Given the description of an element on the screen output the (x, y) to click on. 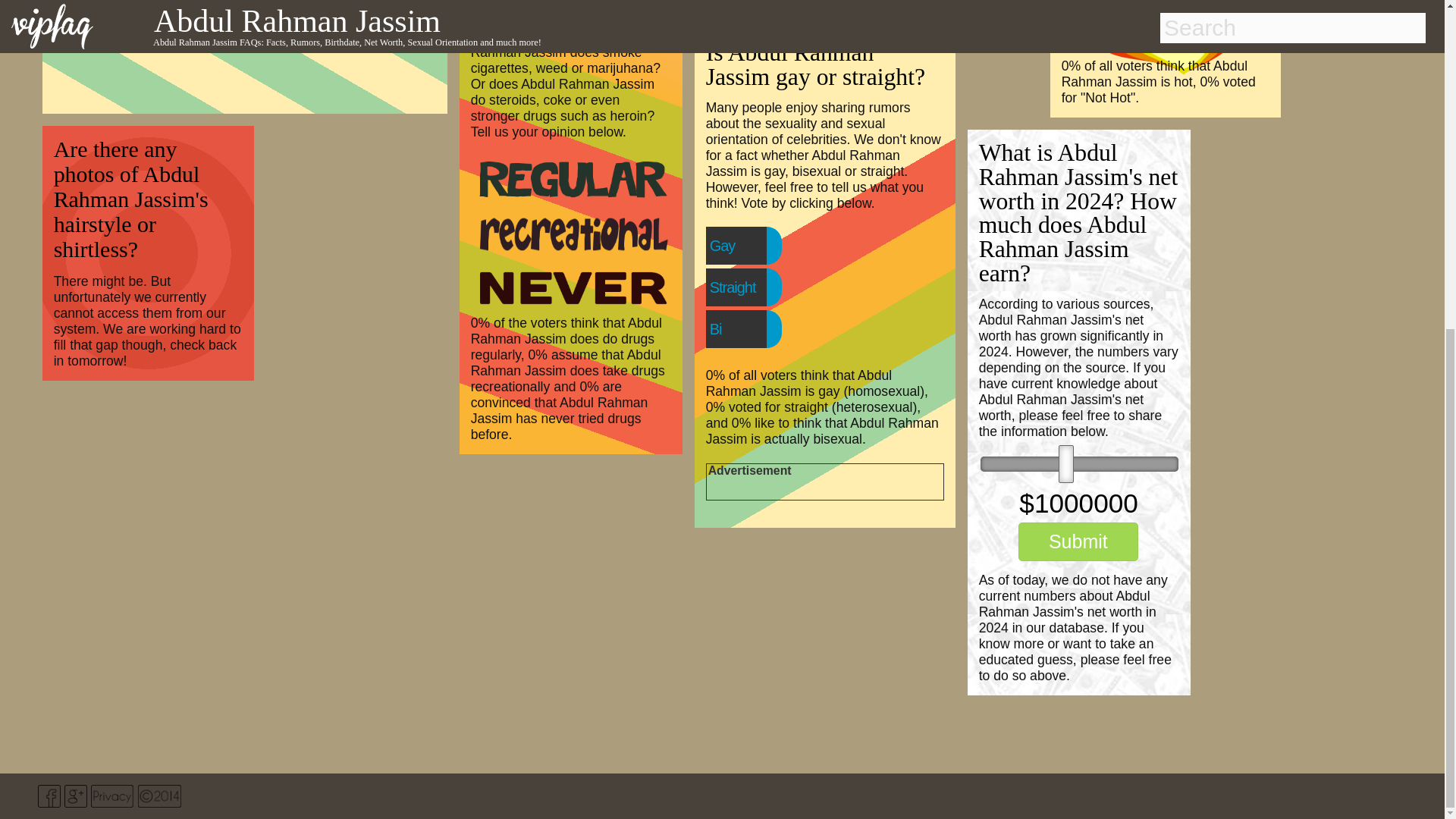
Straight (763, 287)
Advertisement (919, 4)
Bi (746, 328)
6 (1078, 463)
Submit (1077, 541)
Gay (753, 245)
